Given the description of an element on the screen output the (x, y) to click on. 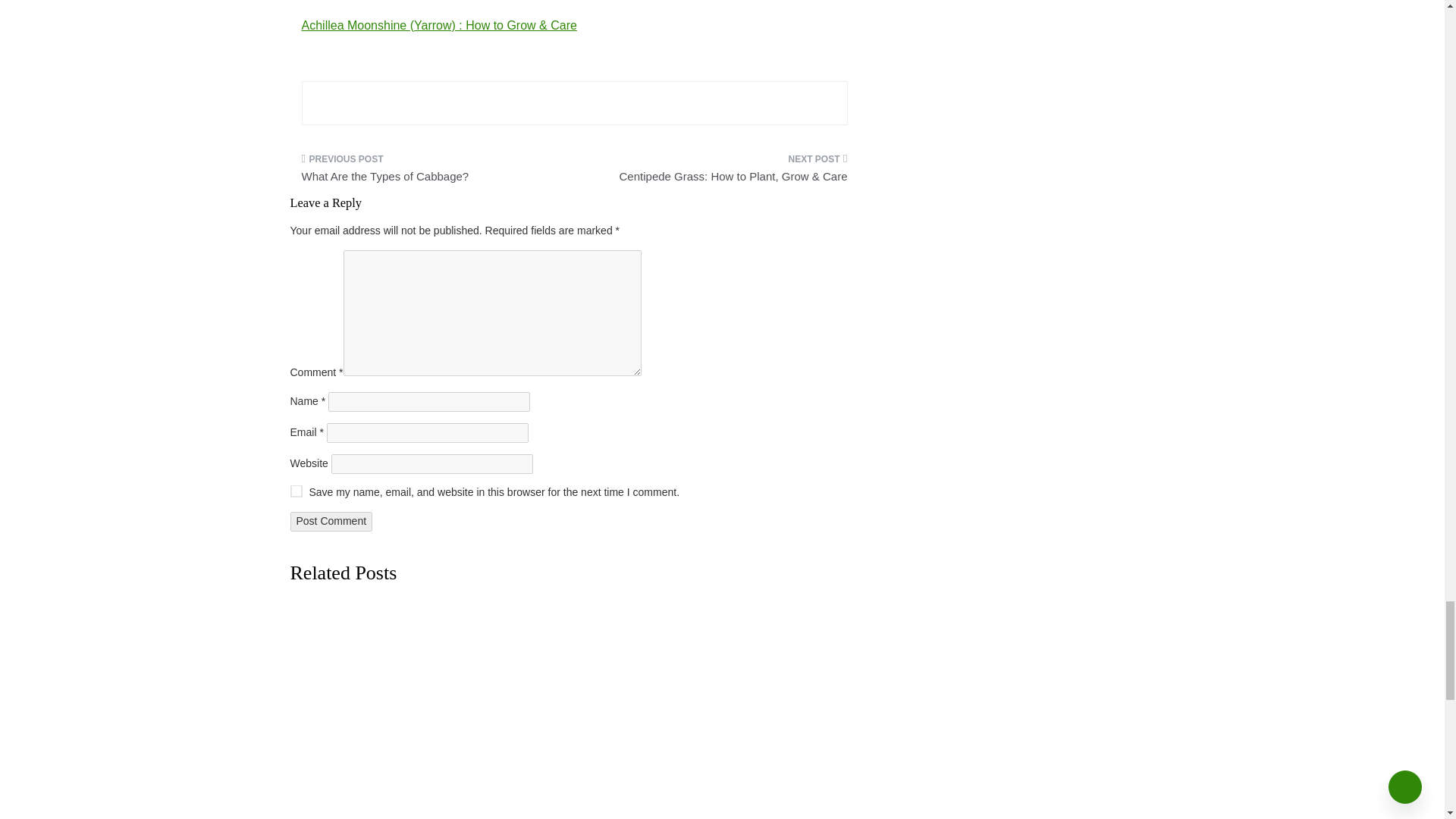
What Are the Types of Cabbage? (432, 172)
Post Comment (330, 521)
yes (295, 491)
